Given the description of an element on the screen output the (x, y) to click on. 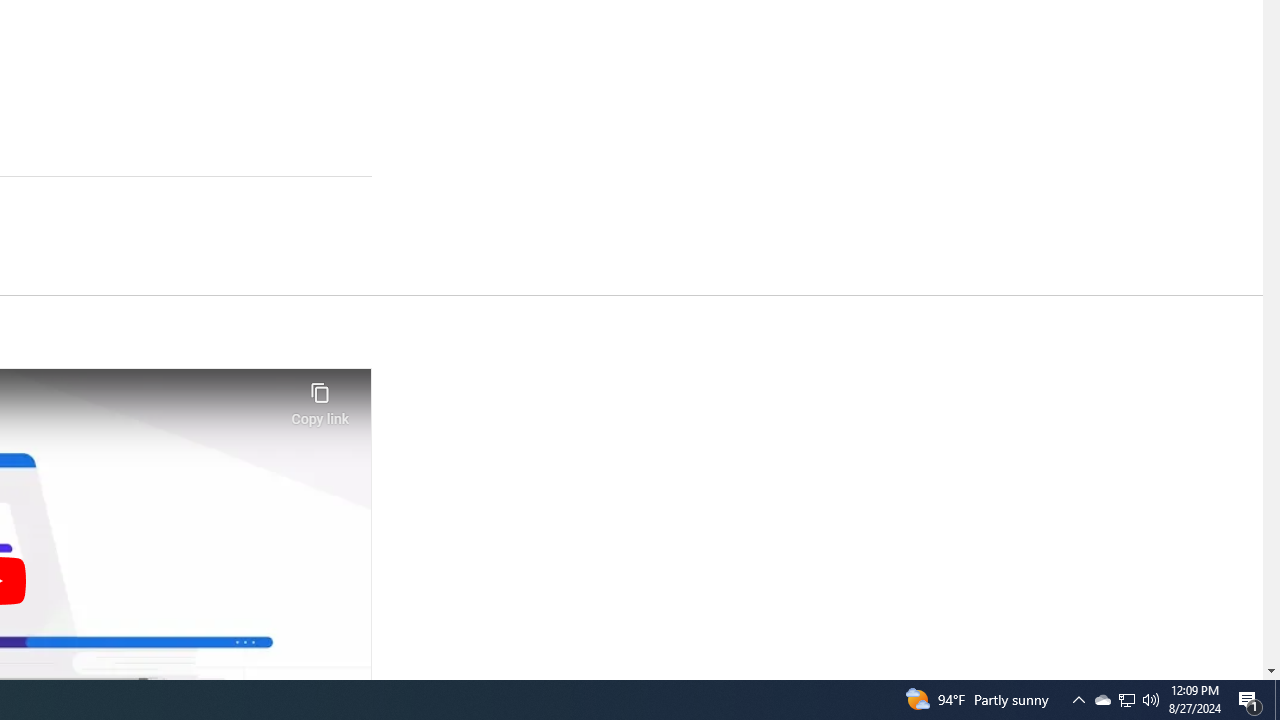
Copy link (319, 398)
